Given the description of an element on the screen output the (x, y) to click on. 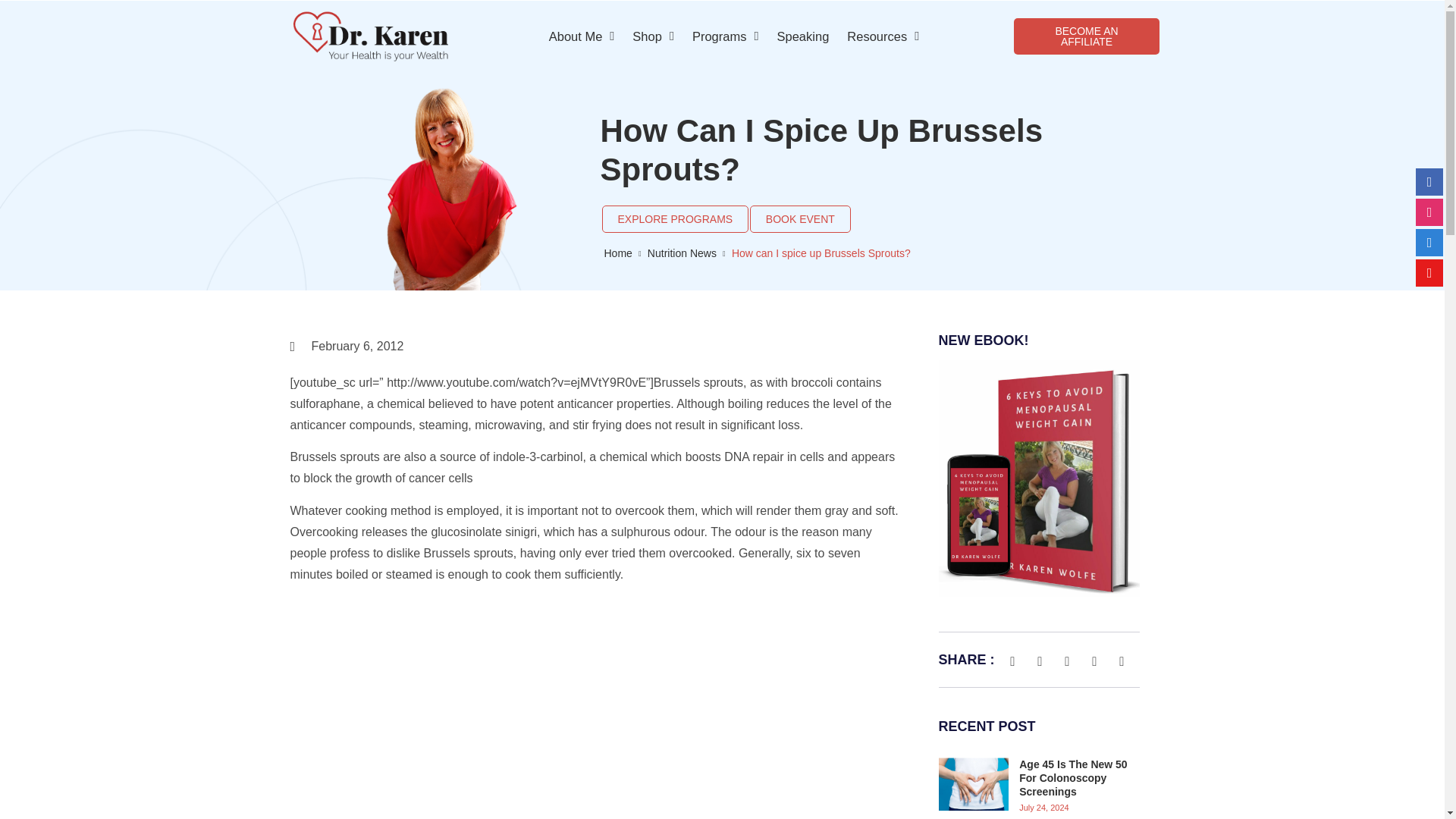
Speaking (802, 36)
Resources (883, 36)
Programs (725, 36)
Shop (652, 36)
Home (617, 253)
Nutrition News (681, 253)
About Me (582, 36)
